Given the description of an element on the screen output the (x, y) to click on. 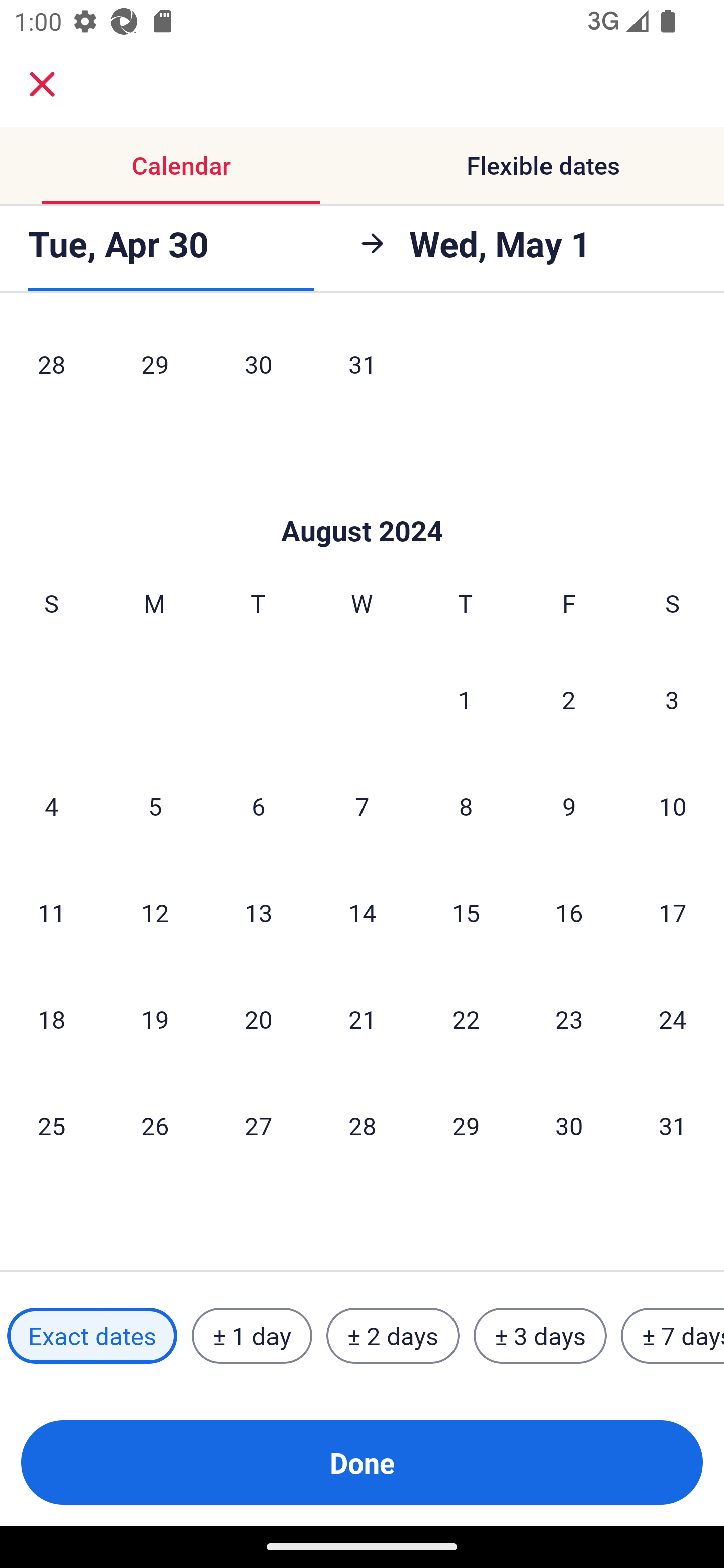
close. (42, 84)
Flexible dates (542, 164)
28 Sunday, July 28, 2024 (51, 368)
29 Monday, July 29, 2024 (155, 368)
30 Tuesday, July 30, 2024 (258, 368)
31 Wednesday, July 31, 2024 (362, 368)
Skip to Done (362, 500)
1 Thursday, August 1, 2024 (464, 699)
2 Friday, August 2, 2024 (568, 699)
3 Saturday, August 3, 2024 (672, 699)
4 Sunday, August 4, 2024 (51, 805)
5 Monday, August 5, 2024 (155, 805)
6 Tuesday, August 6, 2024 (258, 805)
7 Wednesday, August 7, 2024 (362, 805)
8 Thursday, August 8, 2024 (465, 805)
9 Friday, August 9, 2024 (569, 805)
10 Saturday, August 10, 2024 (672, 805)
11 Sunday, August 11, 2024 (51, 912)
12 Monday, August 12, 2024 (155, 912)
13 Tuesday, August 13, 2024 (258, 912)
14 Wednesday, August 14, 2024 (362, 912)
15 Thursday, August 15, 2024 (465, 912)
16 Friday, August 16, 2024 (569, 912)
17 Saturday, August 17, 2024 (672, 912)
18 Sunday, August 18, 2024 (51, 1018)
19 Monday, August 19, 2024 (155, 1018)
20 Tuesday, August 20, 2024 (258, 1018)
21 Wednesday, August 21, 2024 (362, 1018)
22 Thursday, August 22, 2024 (465, 1018)
23 Friday, August 23, 2024 (569, 1018)
24 Saturday, August 24, 2024 (672, 1018)
25 Sunday, August 25, 2024 (51, 1125)
26 Monday, August 26, 2024 (155, 1125)
27 Tuesday, August 27, 2024 (258, 1125)
28 Wednesday, August 28, 2024 (362, 1125)
29 Thursday, August 29, 2024 (465, 1125)
30 Friday, August 30, 2024 (569, 1125)
31 Saturday, August 31, 2024 (672, 1125)
Exact dates (92, 1335)
± 1 day (251, 1335)
± 2 days (392, 1335)
± 3 days (539, 1335)
± 7 days (672, 1335)
Done (361, 1462)
